Given the description of an element on the screen output the (x, y) to click on. 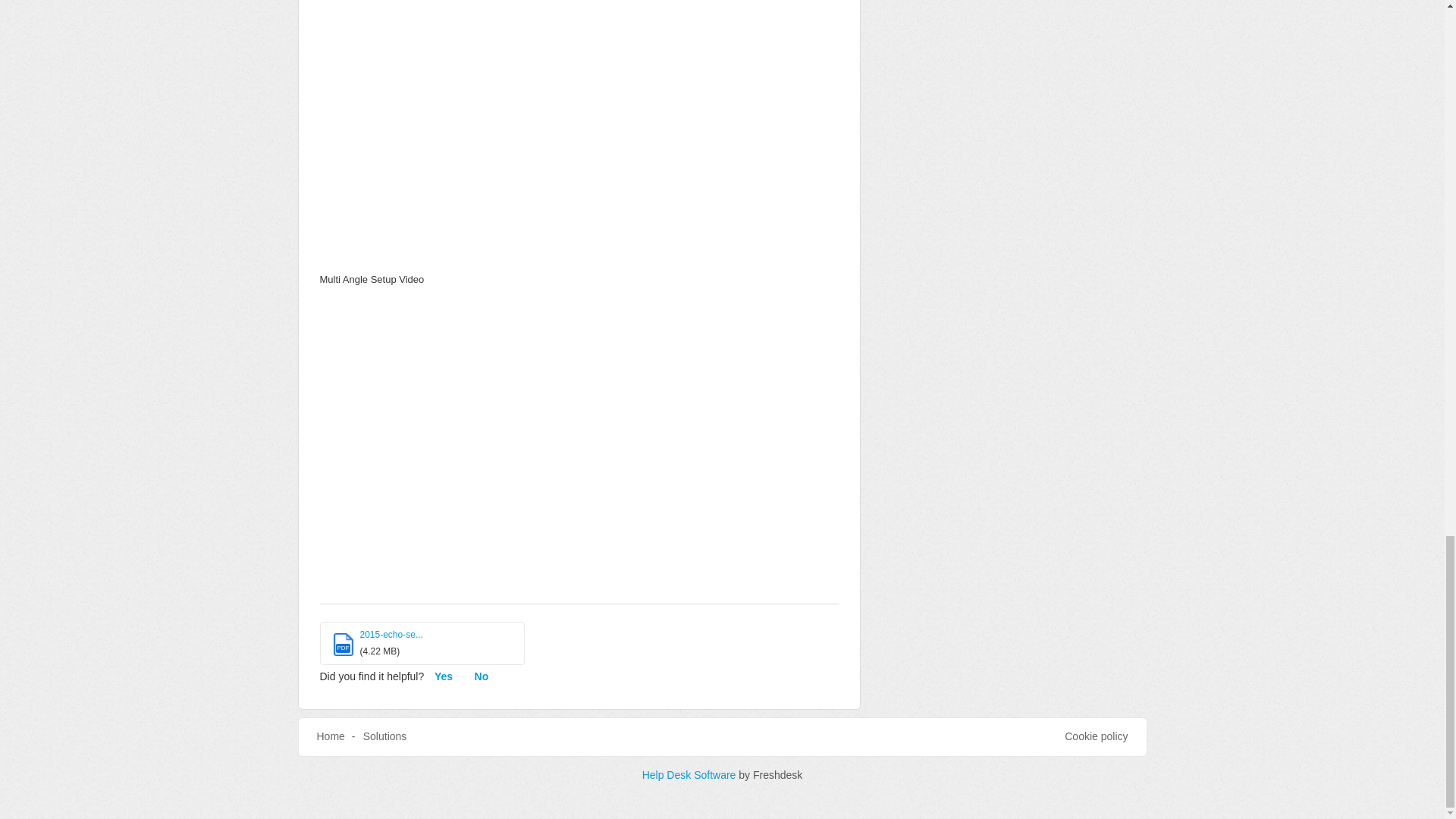
2015-echo-se... (390, 634)
Home (331, 736)
Cookie policy (1095, 736)
Why we love Cookies (1095, 736)
Solutions (384, 736)
Help Desk Software (690, 775)
